Given the description of an element on the screen output the (x, y) to click on. 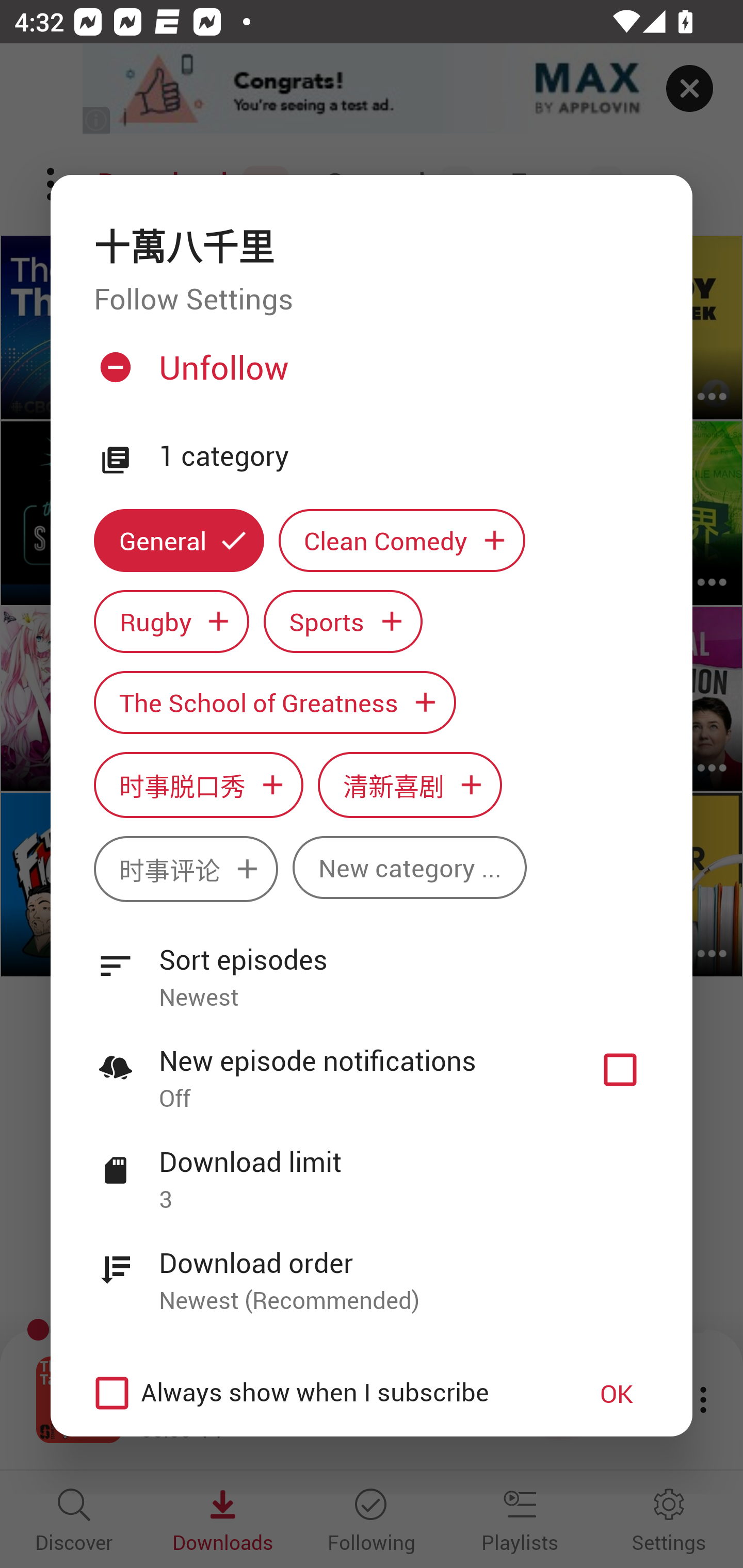
Unfollow (369, 374)
1 category (404, 455)
General (178, 540)
Clean Comedy (401, 540)
Rugby (170, 620)
Sports (342, 620)
The School of Greatness (274, 702)
时事脱口秀 (198, 785)
清新喜剧 (410, 785)
时事评论 (185, 868)
New category ... (409, 866)
Sort episodes Newest (371, 967)
New episode notifications (620, 1070)
Download limit 3 (371, 1168)
Download order Newest (Recommended) (371, 1269)
OK (616, 1393)
Always show when I subscribe (320, 1393)
